Given the description of an element on the screen output the (x, y) to click on. 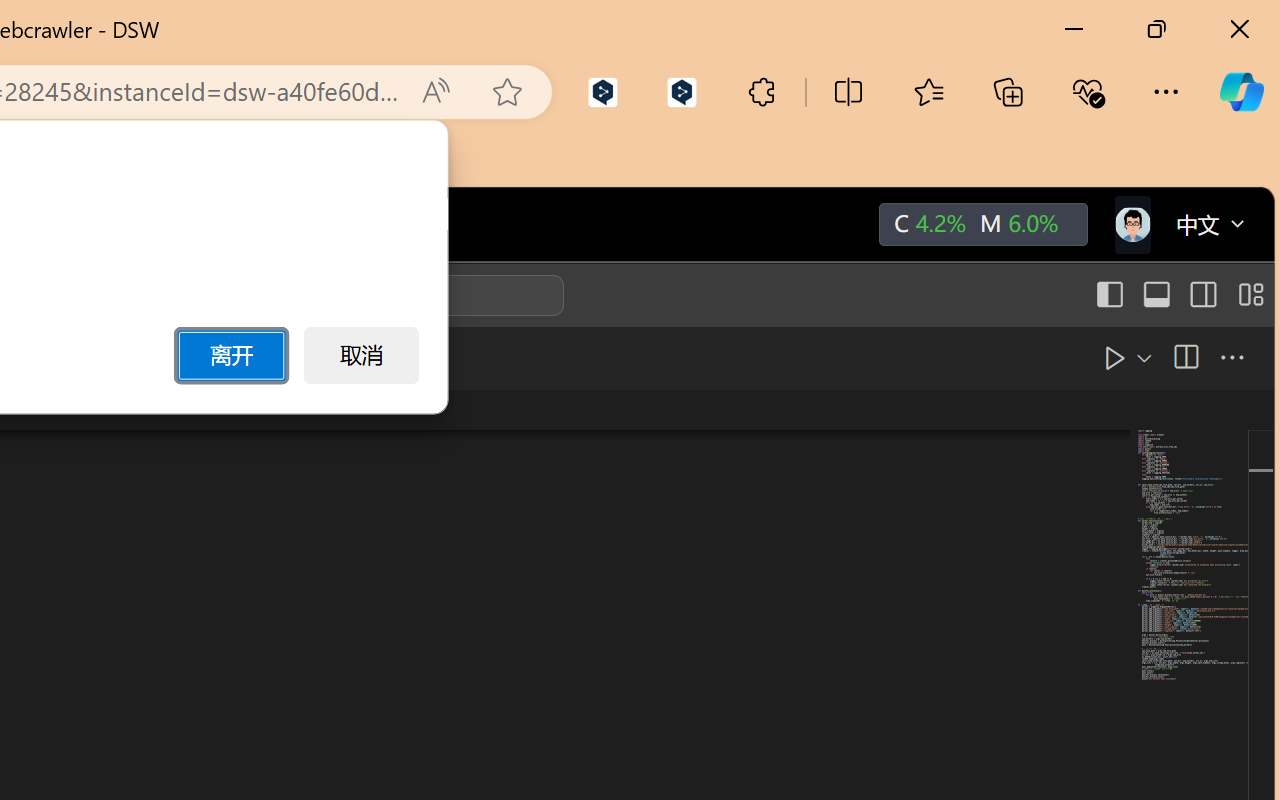
Run Python File (1067, 357)
Run or Debug... (1096, 357)
Editor actions (1153, 358)
Split Editor Right (Ctrl+\) [Alt] Split Editor Down (1183, 357)
Class: next-menu next-hoz widgets--iconMenu--BFkiHRM (1131, 225)
More Actions... (1230, 357)
icon (1131, 224)
Customize Layout... (1248, 295)
Title actions (1178, 295)
